Given the description of an element on the screen output the (x, y) to click on. 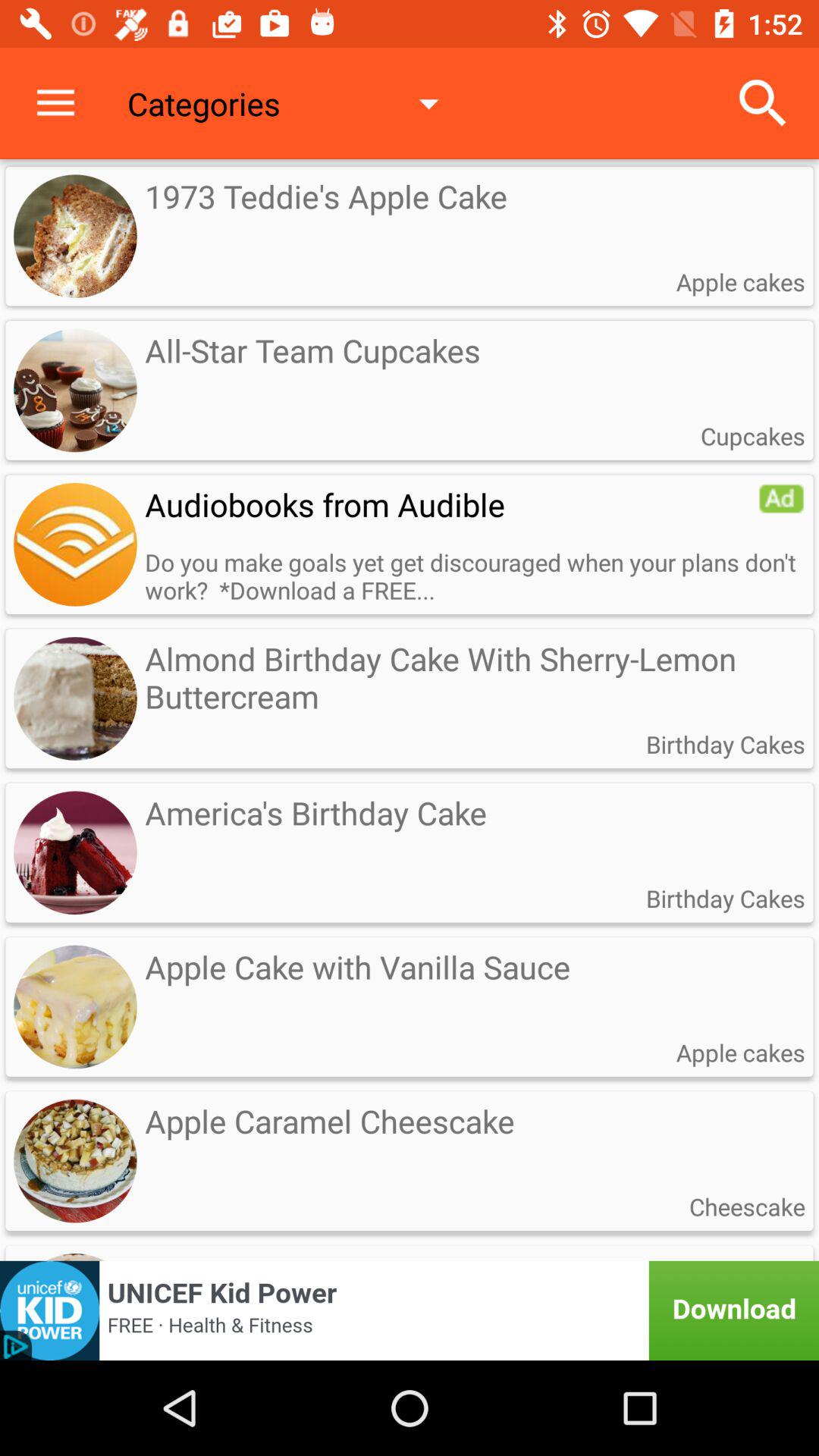
audiobooks from audible (75, 544)
